Given the description of an element on the screen output the (x, y) to click on. 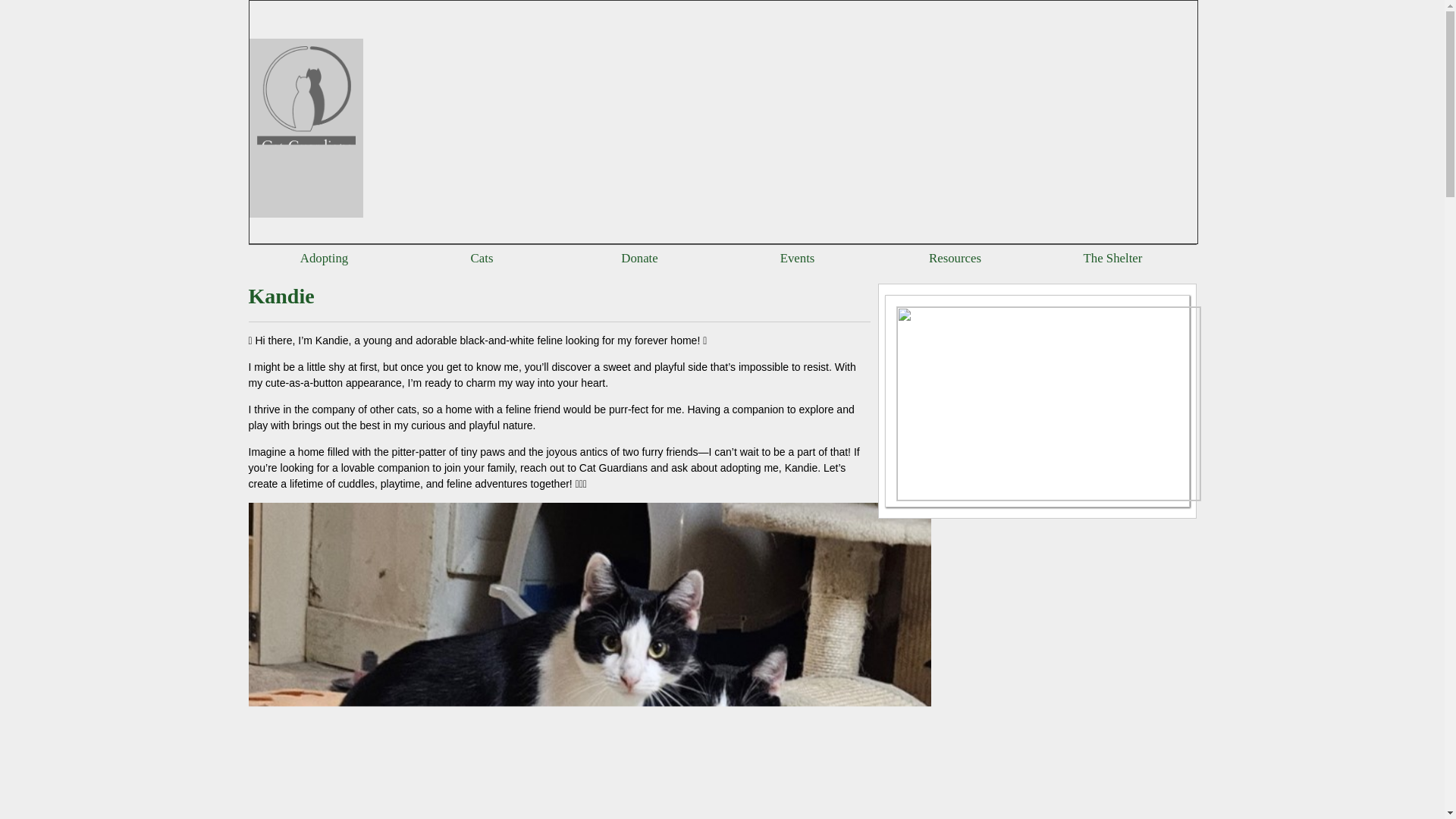
Adopting (323, 257)
Donate (639, 257)
Events (797, 257)
Cats (481, 257)
